Given the description of an element on the screen output the (x, y) to click on. 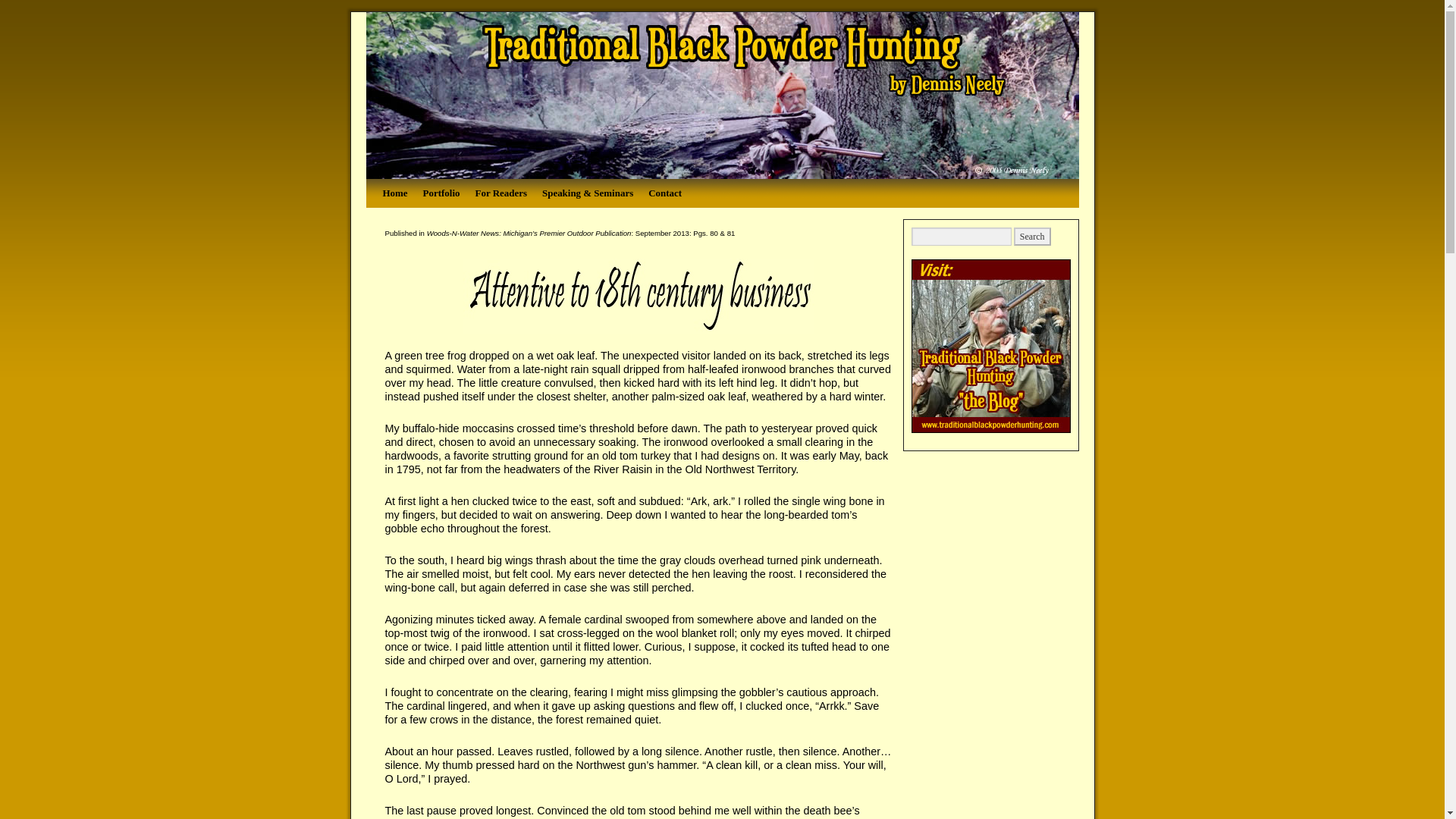
Search (1032, 236)
Search (1032, 236)
For Readers (500, 193)
Portfolio (440, 193)
Contact (664, 193)
Home (394, 193)
